Given the description of an element on the screen output the (x, y) to click on. 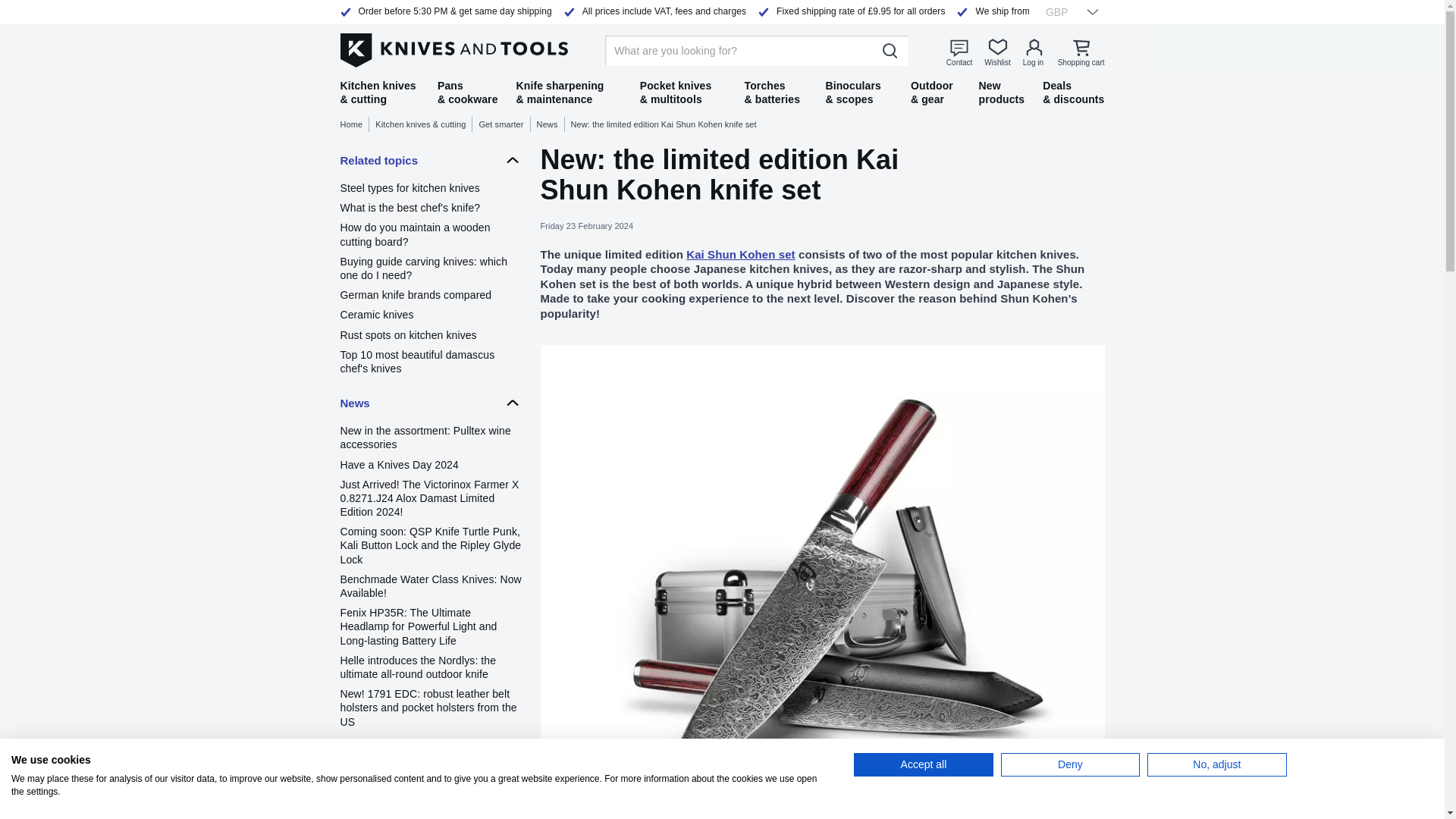
Benchmade Water Class Knives: Now Available! (430, 585)
Home (354, 124)
Ceramic knives (430, 314)
Top 10 most beautiful damascus chef's knives (430, 361)
New in the assortment: Pulltex wine accessories (430, 437)
News (550, 124)
Shopping cart (1081, 52)
How do you maintain a wooden cutting board? (430, 234)
Have a Knives Day 2024 (430, 464)
Related topics (430, 159)
News (430, 402)
New products (1001, 92)
Rust spots on kitchen knives (430, 335)
